Given the description of an element on the screen output the (x, y) to click on. 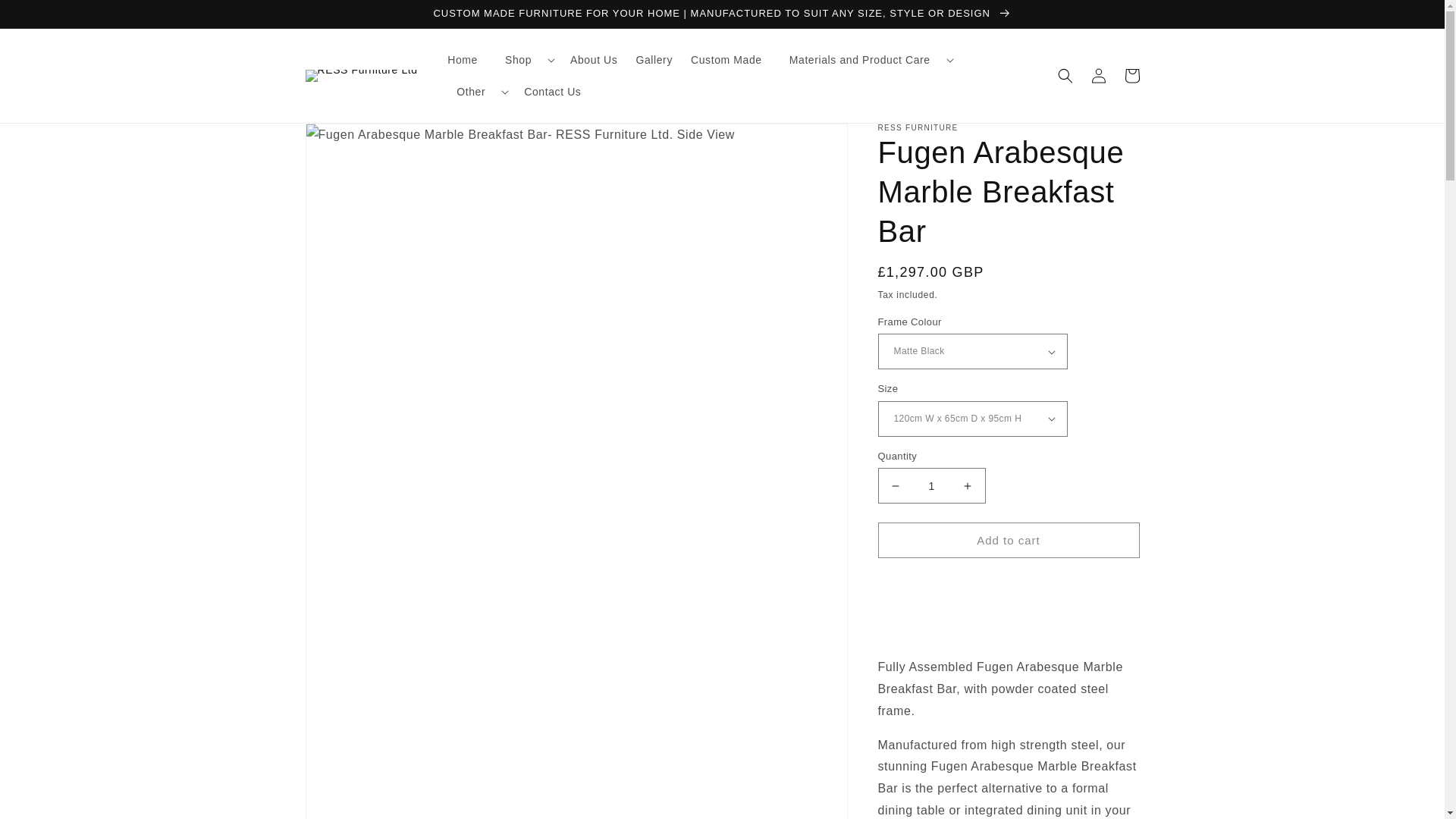
1 (931, 485)
Skip to content (45, 17)
Home (462, 60)
Shop (518, 60)
